Given the description of an element on the screen output the (x, y) to click on. 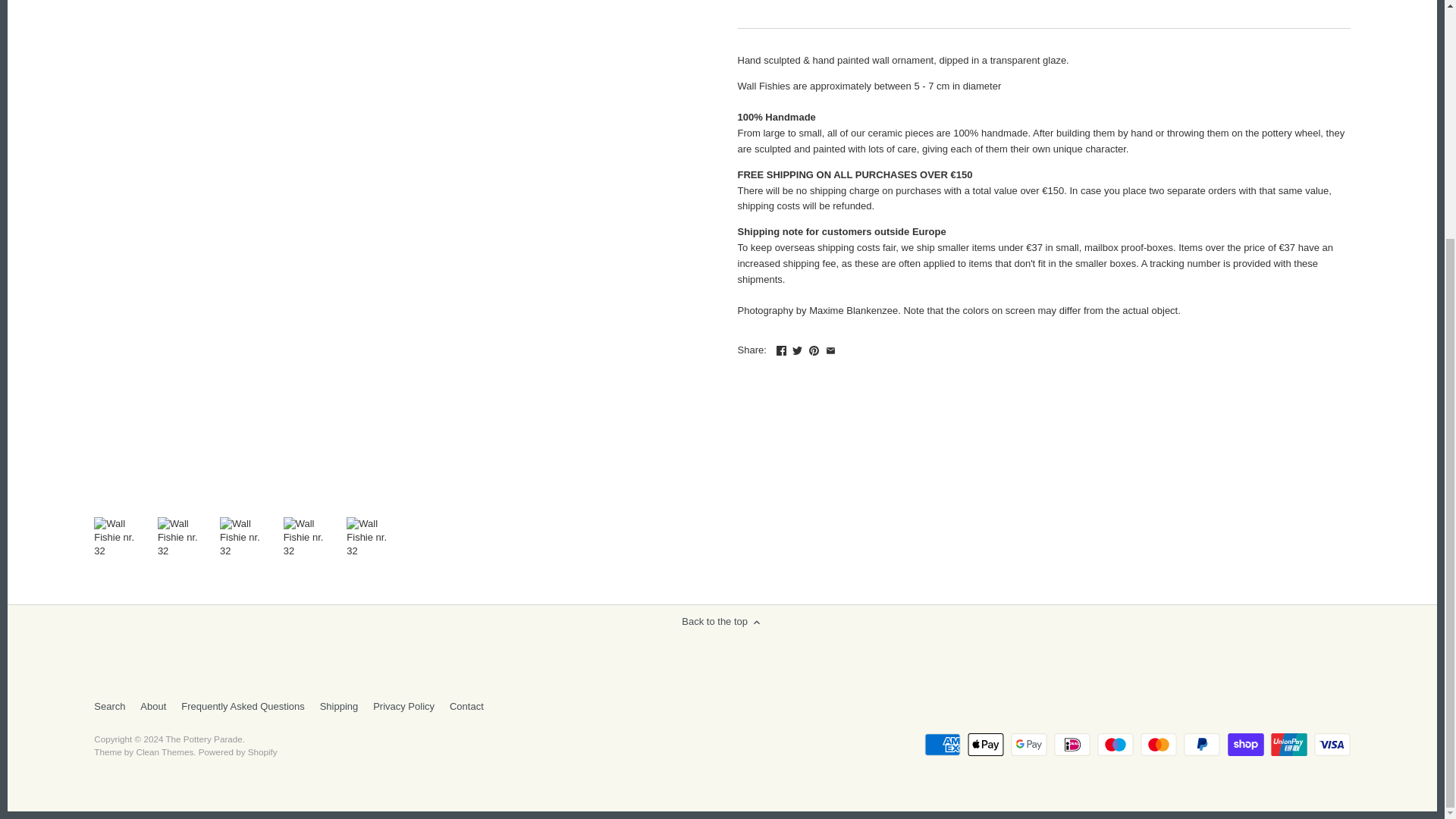
American Express (942, 744)
Pinterest (813, 350)
Union Pay (1289, 744)
Mastercard (1158, 744)
Email (830, 350)
Contact (466, 706)
Frequently Asked Questions (242, 706)
Shipping (339, 706)
iDEAL (1072, 744)
Privacy Policy (402, 706)
Facebook (781, 350)
Twitter (797, 350)
Google Pay (1028, 744)
PayPal (1201, 744)
Shop Pay (1245, 744)
